Given the description of an element on the screen output the (x, y) to click on. 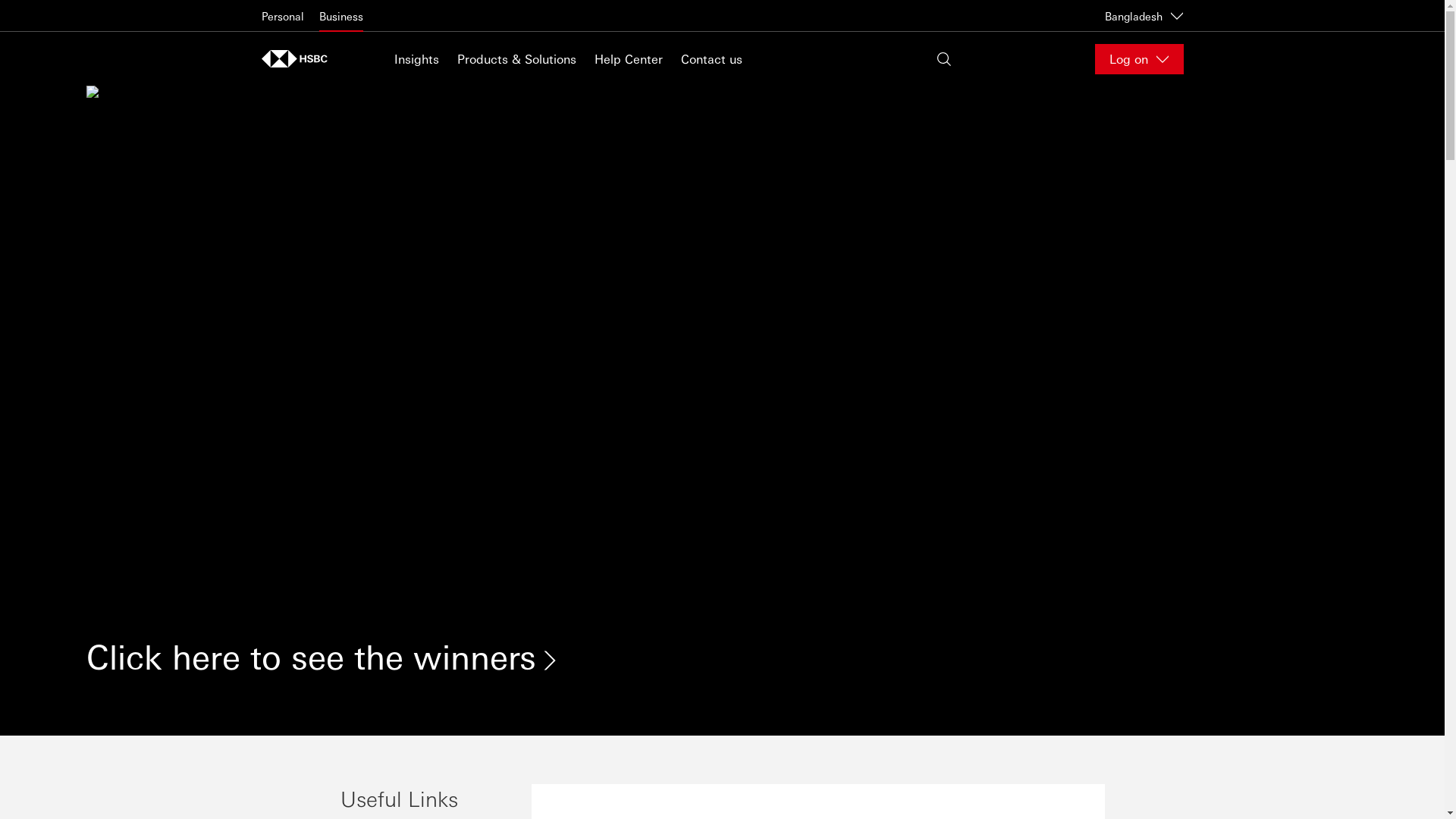
Contact us Element type: text (711, 59)
Products & Solutions Element type: text (515, 59)
  Element type: hover (293, 58)
Home Element type: hover (298, 58)
Insights Element type: text (416, 59)
Business Element type: text (340, 15)
Skip to content Element type: text (0, 0)
Log on Element type: text (1139, 58)
  Element type: hover (721, 371)
Bangladesh Element type: text (1143, 14)
Help Center Element type: text (628, 59)
Personal Element type: text (281, 15)
